Given the description of an element on the screen output the (x, y) to click on. 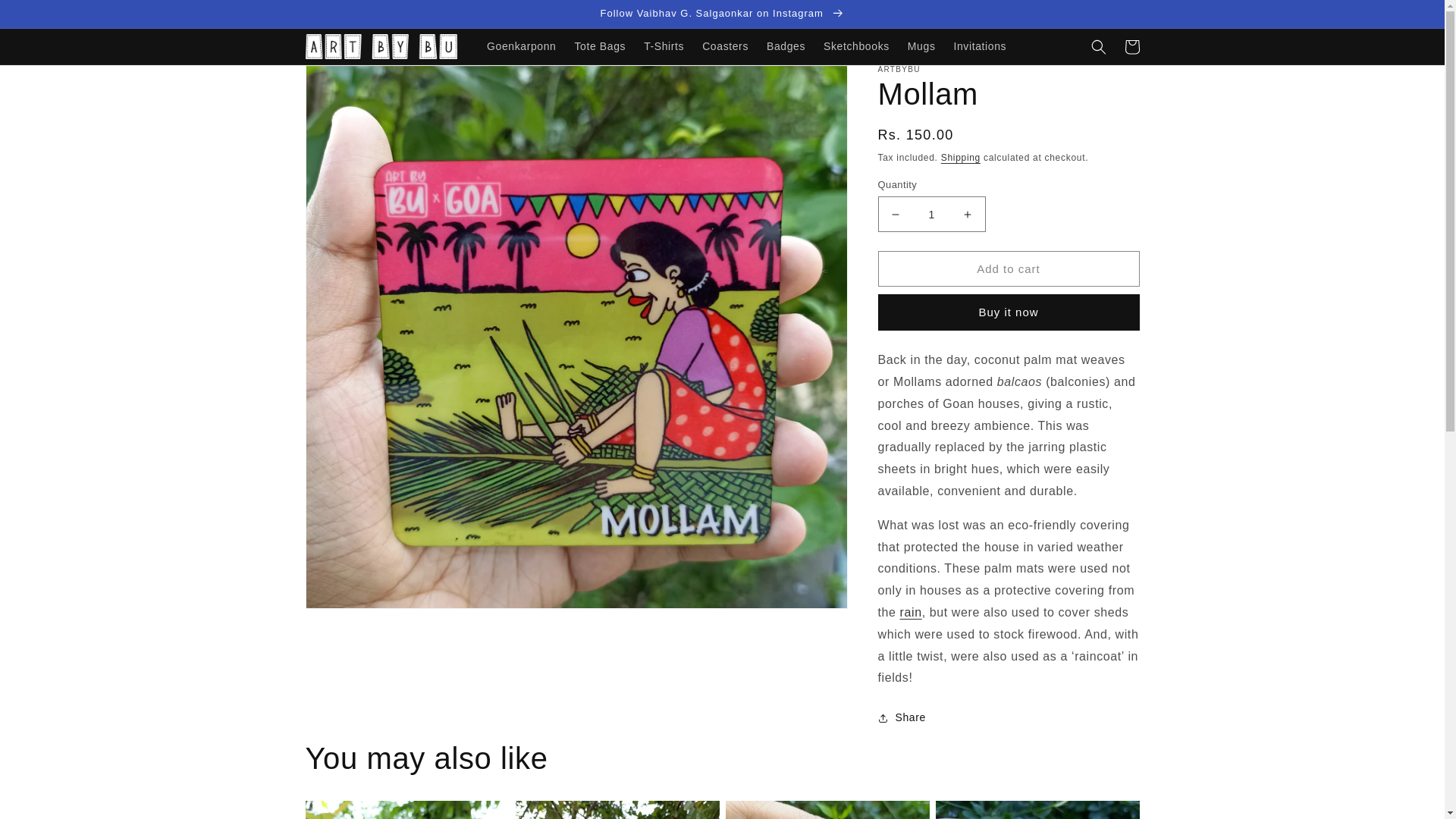
Tote Bags (599, 46)
rain (910, 612)
Increase quantity for Mollam (967, 213)
Badges (785, 46)
Goenkarponn (520, 46)
Invitations (978, 46)
1 (931, 213)
Sketchbooks (855, 46)
Add to cart (1008, 268)
Skip to content (45, 17)
T-Shirts (663, 46)
Buy it now (1008, 312)
Coasters (725, 46)
Mugs (921, 46)
Shipping (959, 157)
